Given the description of an element on the screen output the (x, y) to click on. 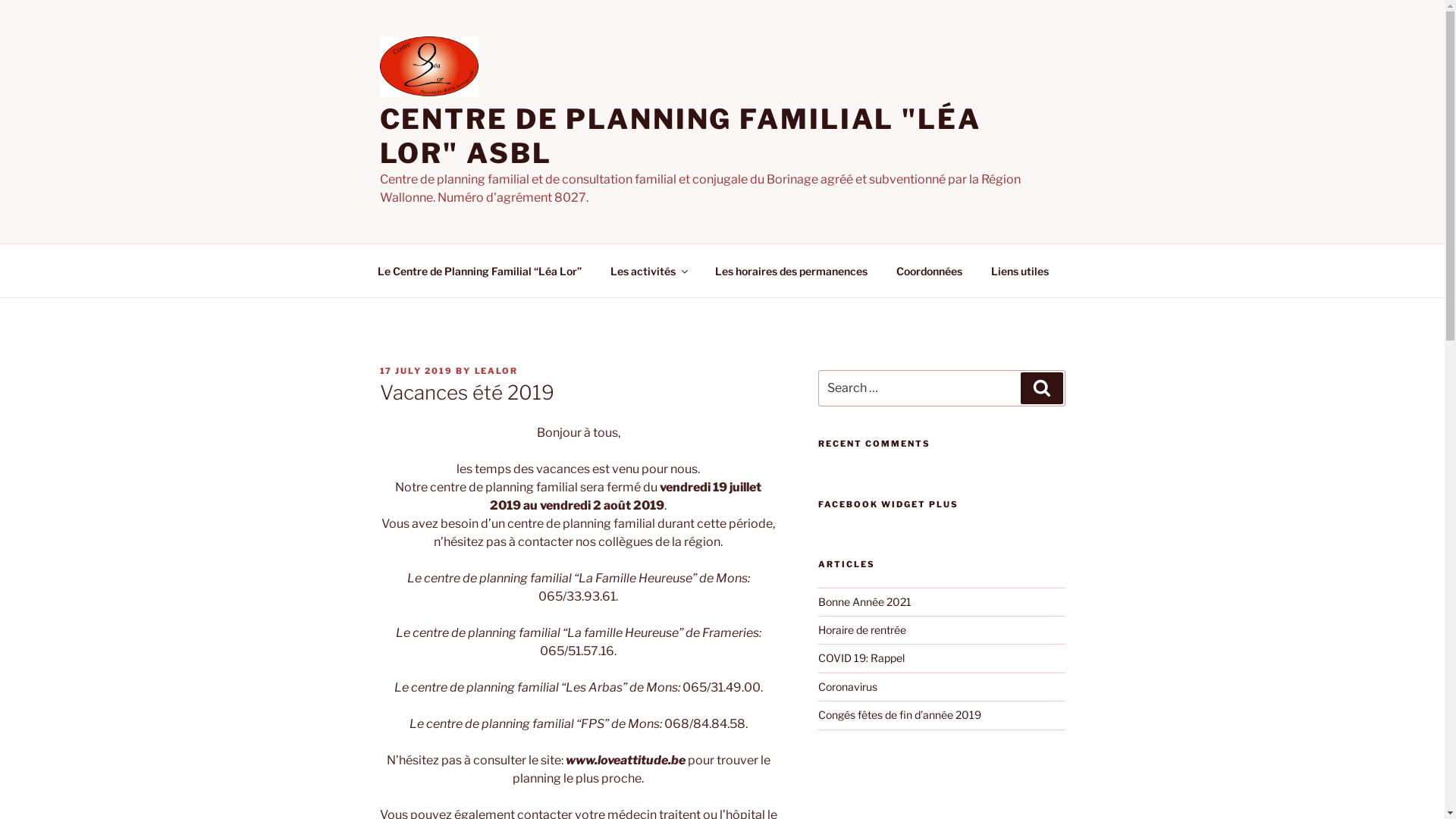
Les horaires des permanences Element type: text (791, 269)
Liens utiles Element type: text (1020, 269)
LEALOR Element type: text (496, 370)
17 JULY 2019 Element type: text (415, 370)
Search Element type: text (1041, 388)
Coronavirus Element type: text (847, 686)
COVID 19: Rappel Element type: text (861, 657)
